Given the description of an element on the screen output the (x, y) to click on. 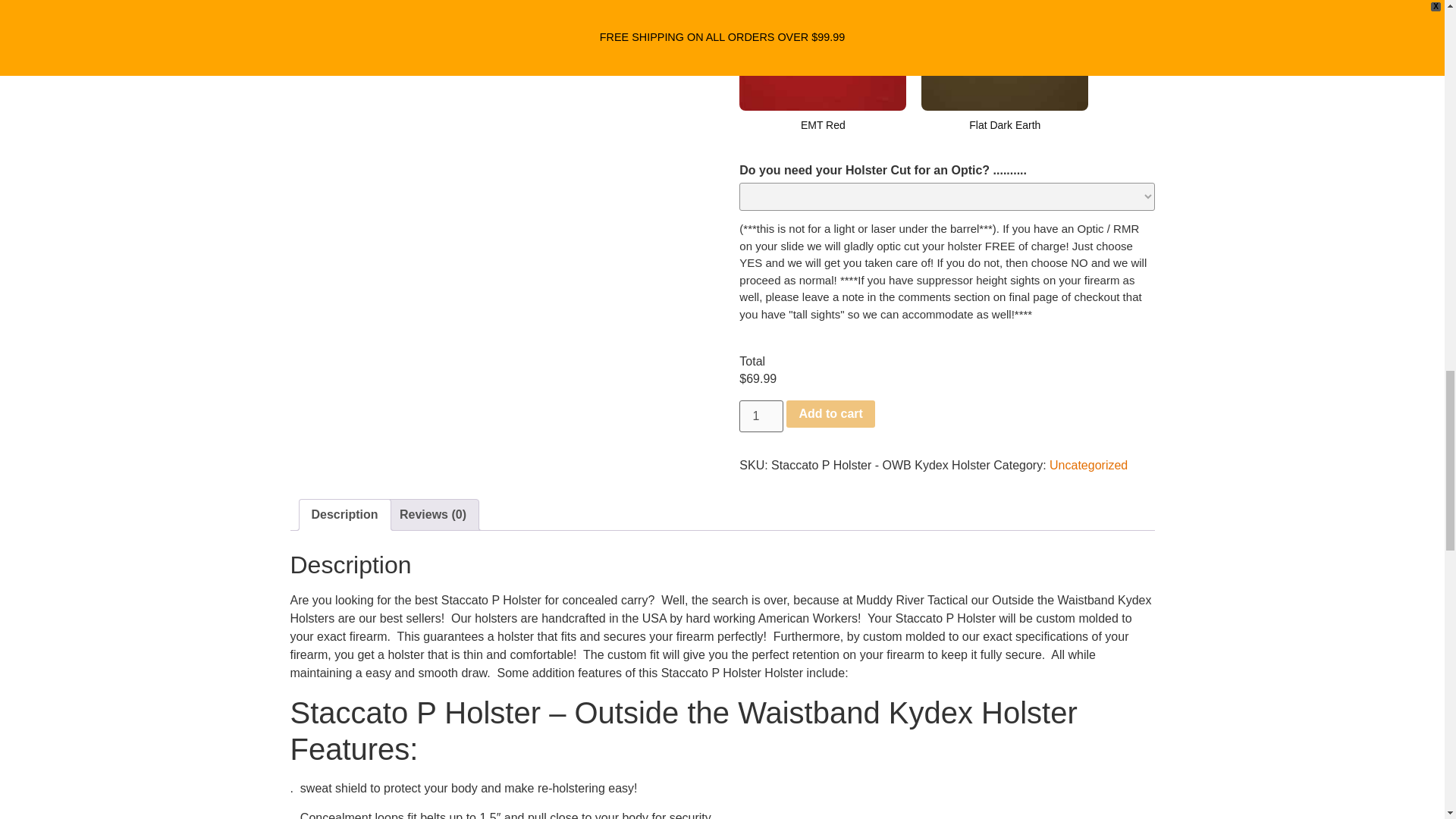
Uncategorized (1087, 464)
Description (344, 514)
1 (761, 416)
Add to cart (830, 413)
